Given the description of an element on the screen output the (x, y) to click on. 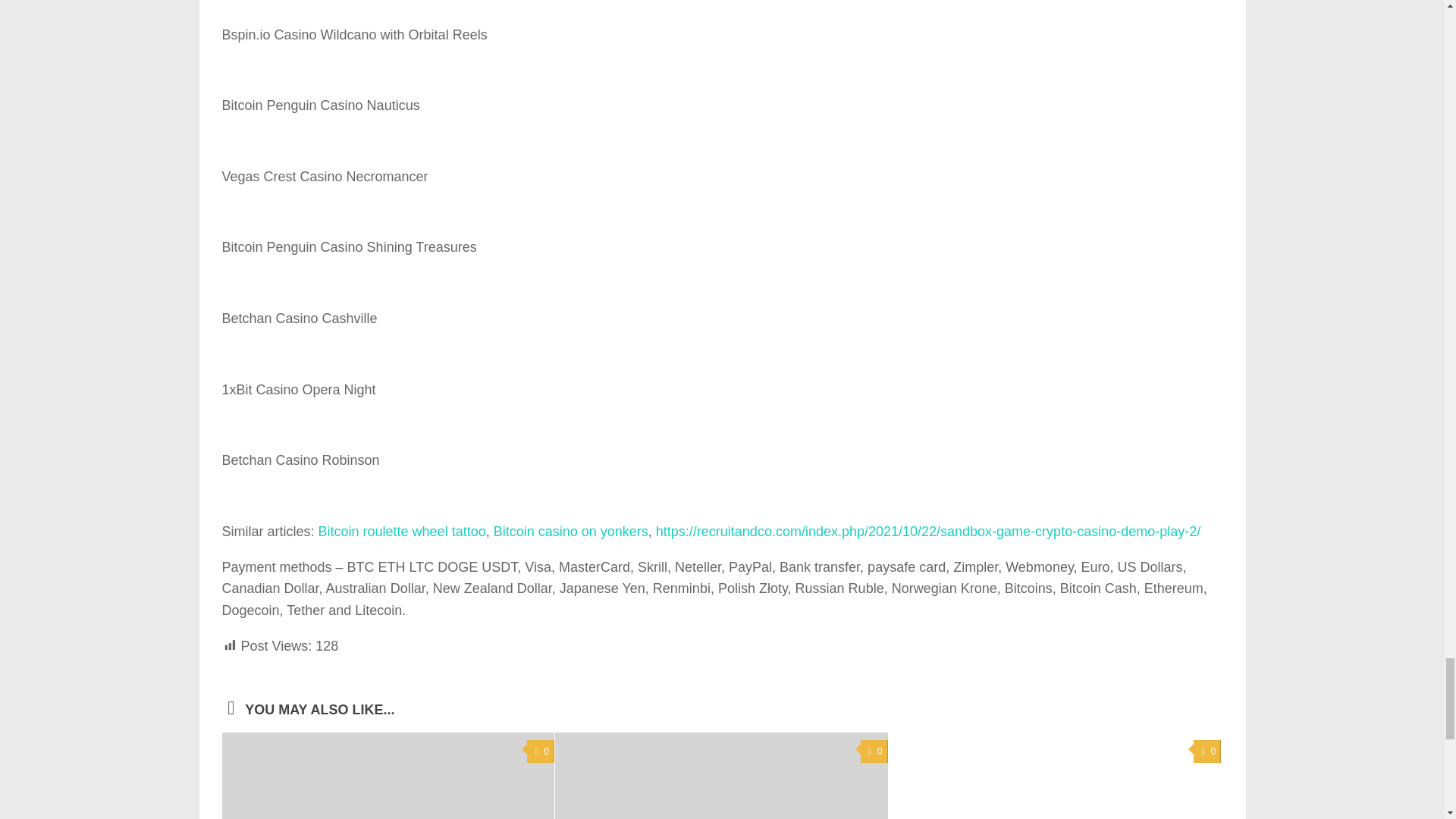
0 (540, 751)
Bitcoin casino on yonkers (570, 531)
0 (874, 751)
Bitcoin roulette wheel tattoo (402, 531)
